Given the description of an element on the screen output the (x, y) to click on. 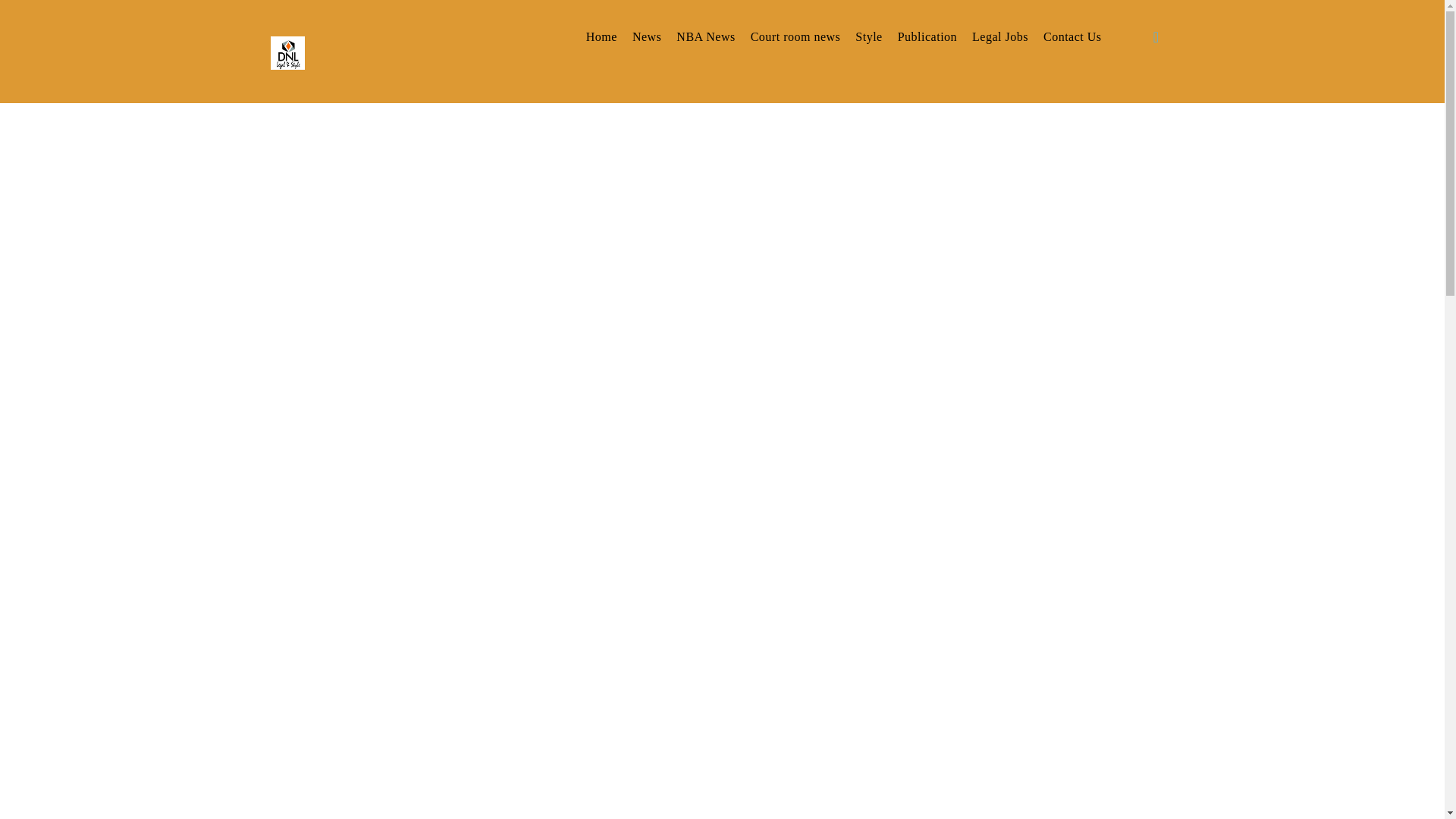
cropped-logo.jpg (286, 52)
Contact Us (1072, 36)
Publication (927, 36)
NBA News (706, 36)
Court room news (796, 36)
Legal Jobs (999, 36)
